Given the description of an element on the screen output the (x, y) to click on. 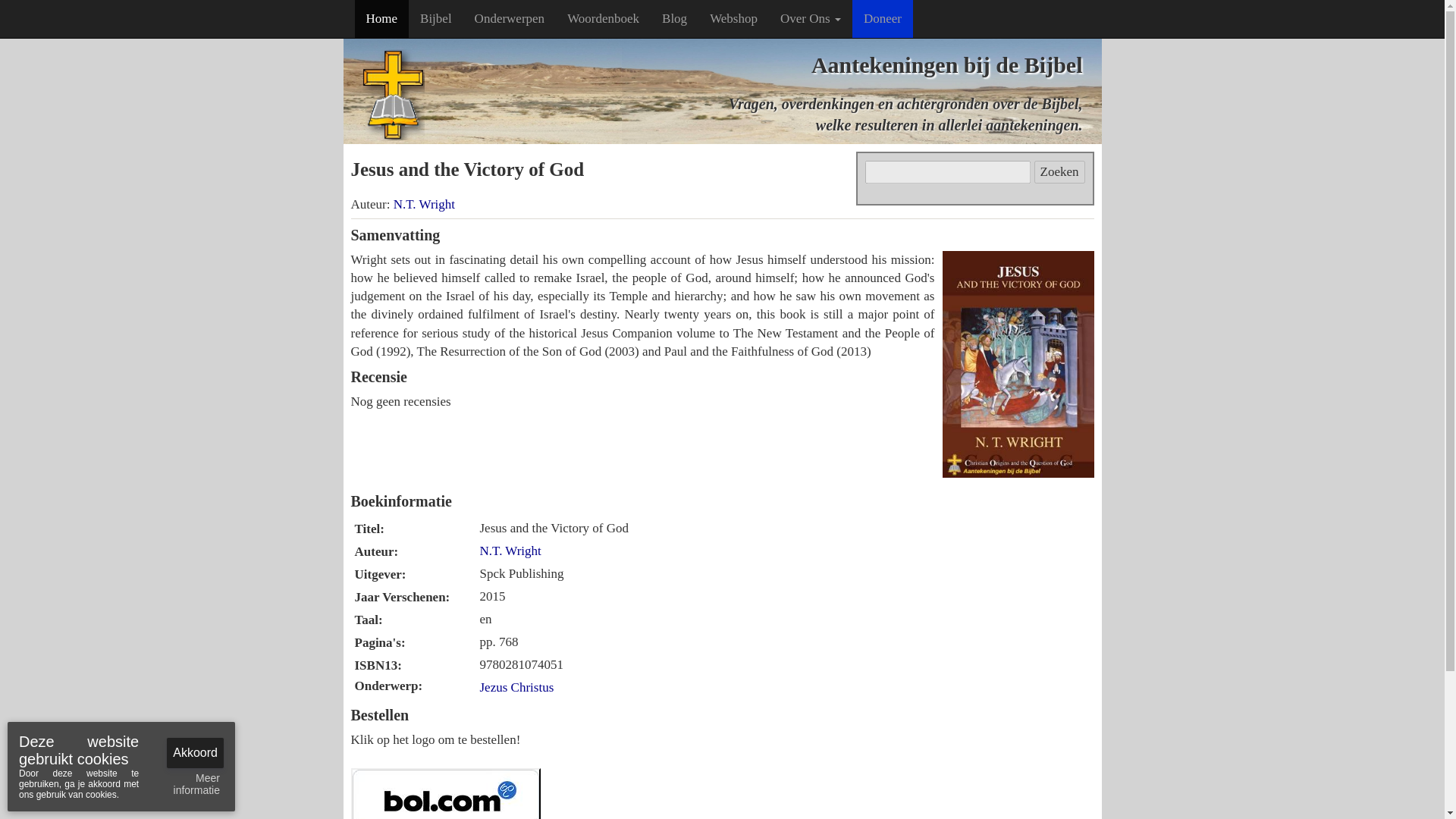
Over Ons (809, 18)
Webshop (733, 18)
Jezus Christus (516, 687)
Zoeken (1058, 171)
Meer informatie (190, 784)
Zoeken (1058, 171)
Doneer (881, 18)
N.T. Wright (423, 204)
Bijbel (436, 18)
Woordenboek (603, 18)
Onderwerpen (509, 18)
N.T. Wright (509, 550)
Akkoord (195, 752)
Blog (674, 18)
Home (382, 18)
